Given the description of an element on the screen output the (x, y) to click on. 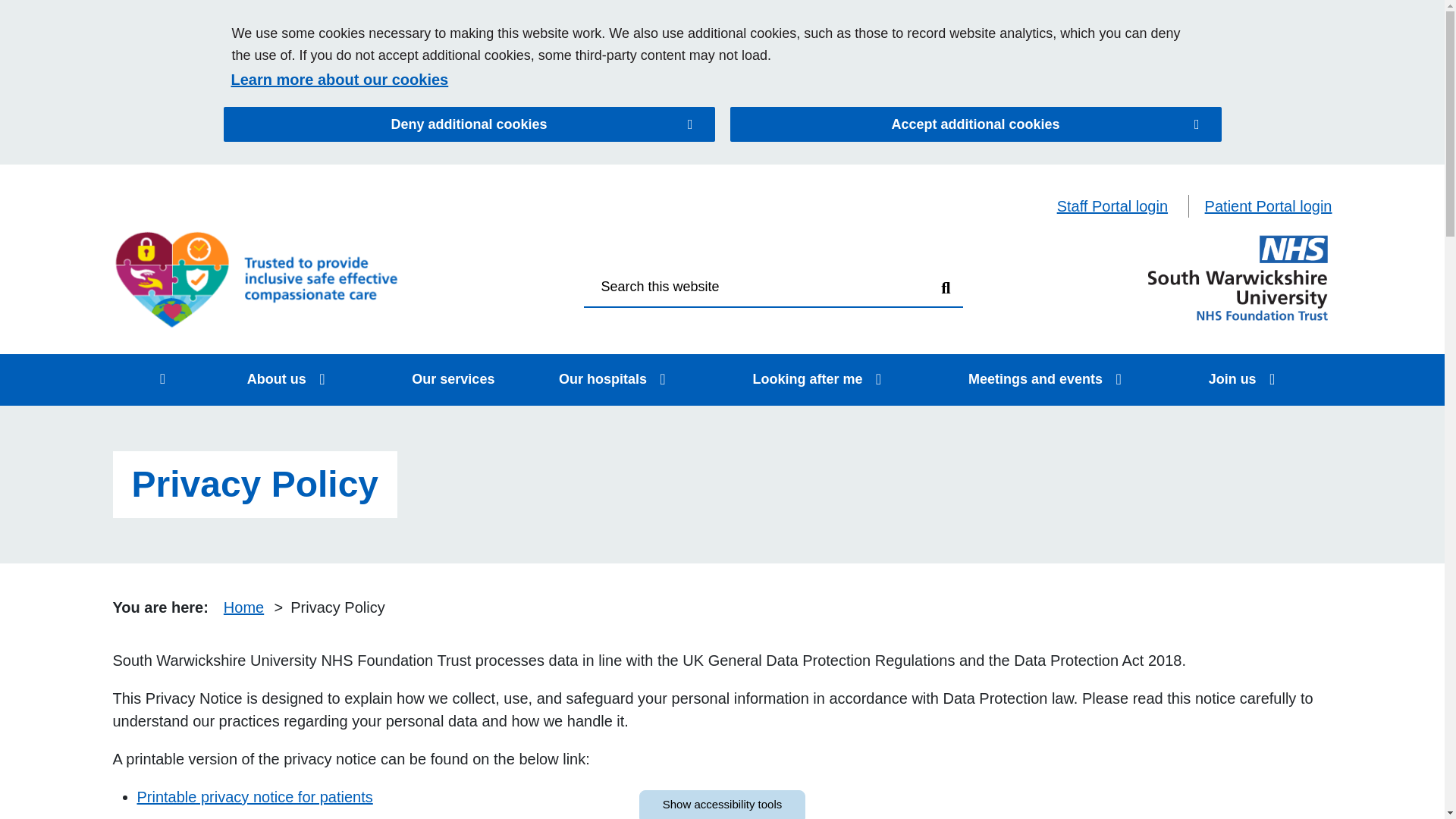
Objectives, values and strategy (552, 248)
Equality, diversity and inclusion (257, 248)
Staff Portal login (1112, 206)
Equality, diversity and inclusion publications and reports (275, 292)
News (459, 204)
Organisational structure (527, 292)
Home (164, 379)
Homepage (1237, 277)
About us (322, 379)
Homepage (257, 278)
Contact us (181, 204)
Board of Directors (507, 327)
Patient Portal login (1268, 206)
About us (197, 151)
Learn more about our cookies (714, 79)
